Given the description of an element on the screen output the (x, y) to click on. 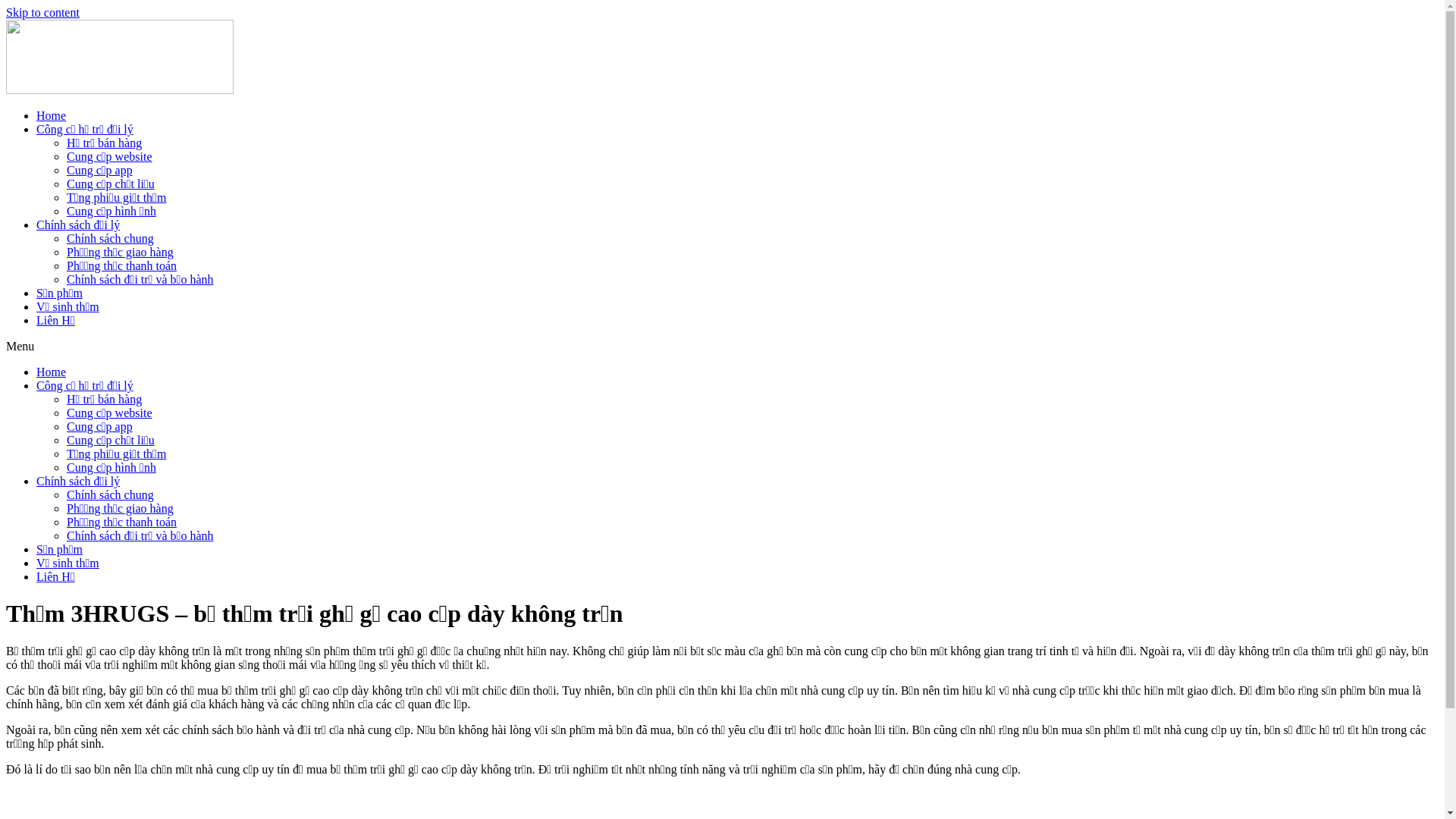
Home Element type: text (50, 115)
Home Element type: text (50, 371)
Skip to content Element type: text (42, 12)
